Given the description of an element on the screen output the (x, y) to click on. 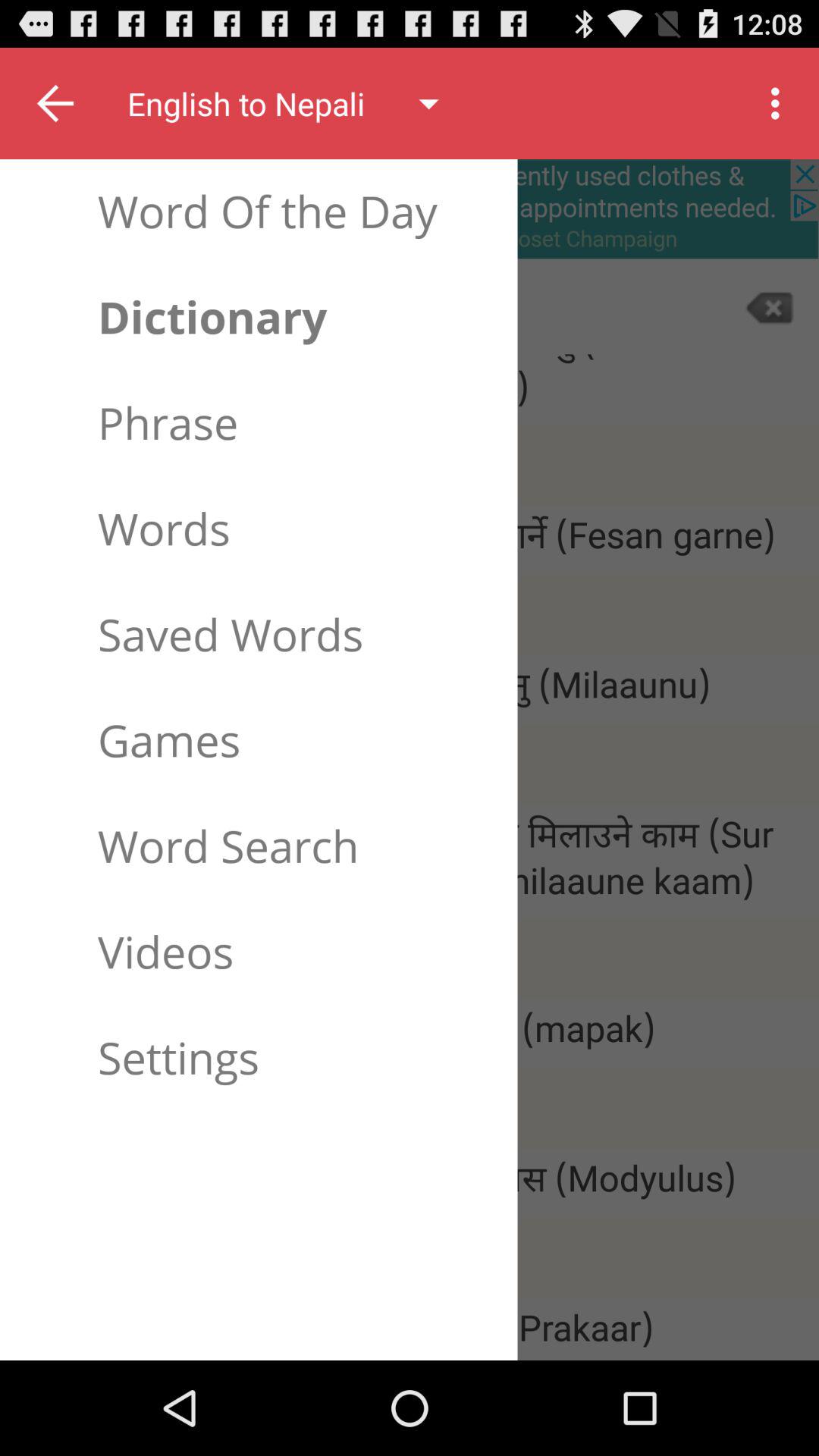
click on 3 vertical dots on the top right corner of the page (779, 103)
